Given the description of an element on the screen output the (x, y) to click on. 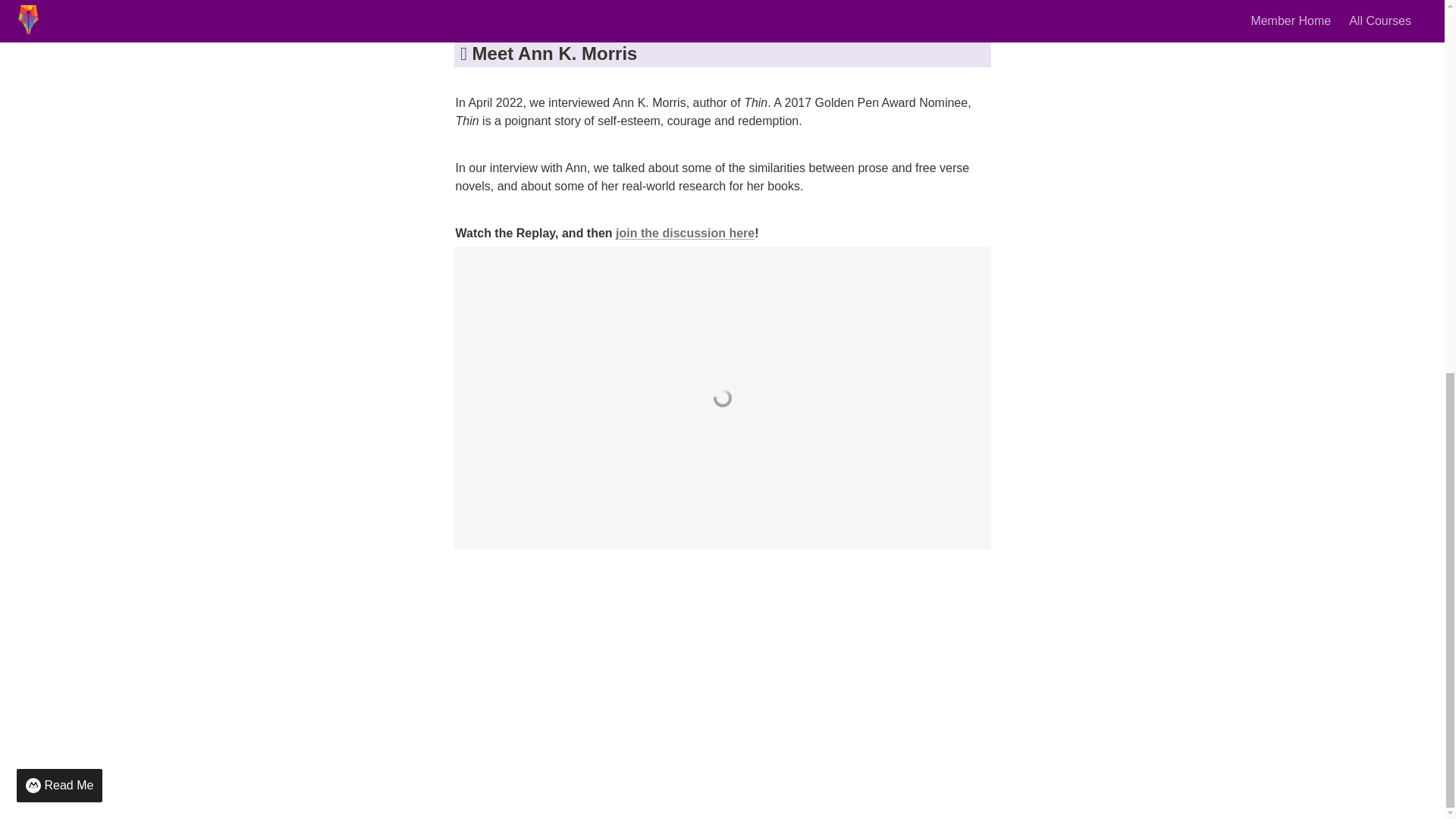
join the discussion here (684, 232)
